Given the description of an element on the screen output the (x, y) to click on. 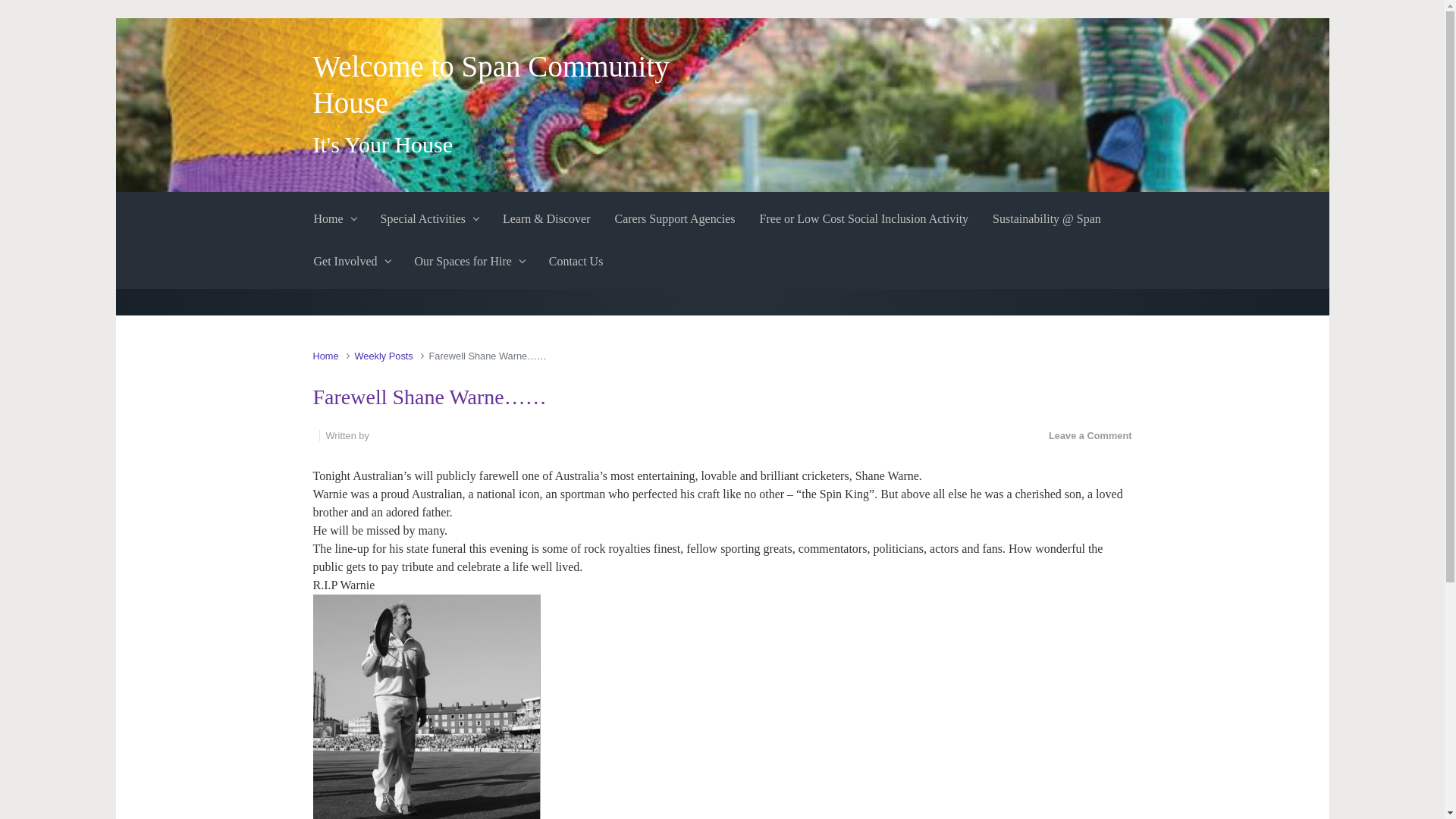
Weekly Posts (382, 355)
Skip to main content (17, 26)
Home (325, 355)
Get Involved (351, 261)
Welcome to Span Community House (490, 83)
Leave a Comment (1090, 435)
Free or Low Cost Social Inclusion Activity (864, 219)
Our Spaces for Hire (468, 261)
Carers Support Agencies (674, 219)
Home (334, 219)
Weekly Posts (382, 355)
Special Activities (429, 219)
Contact Us (576, 261)
